Given the description of an element on the screen output the (x, y) to click on. 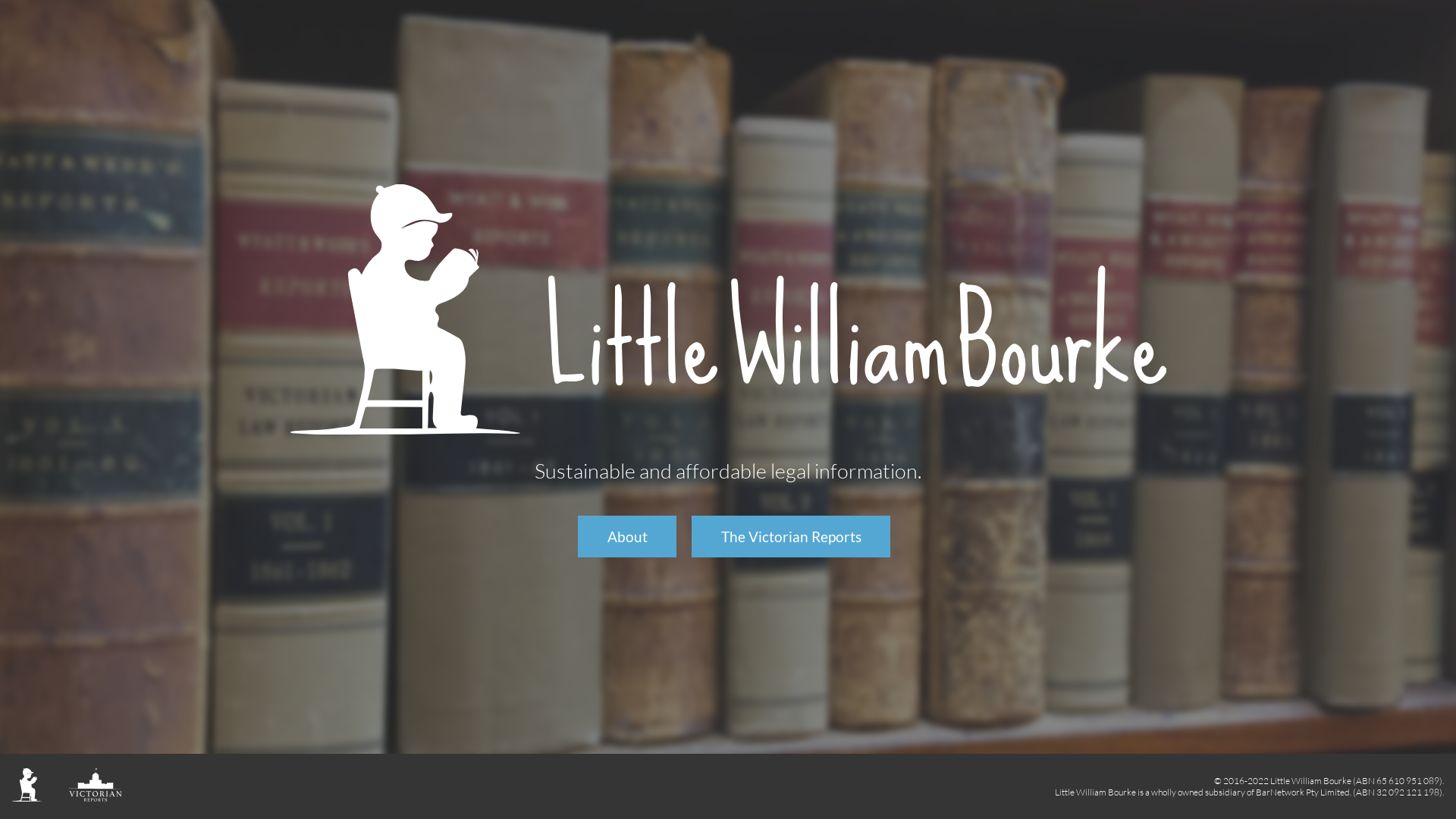
About Element type: text (626, 536)
The Victorian Reports Element type: text (790, 536)
